Given the description of an element on the screen output the (x, y) to click on. 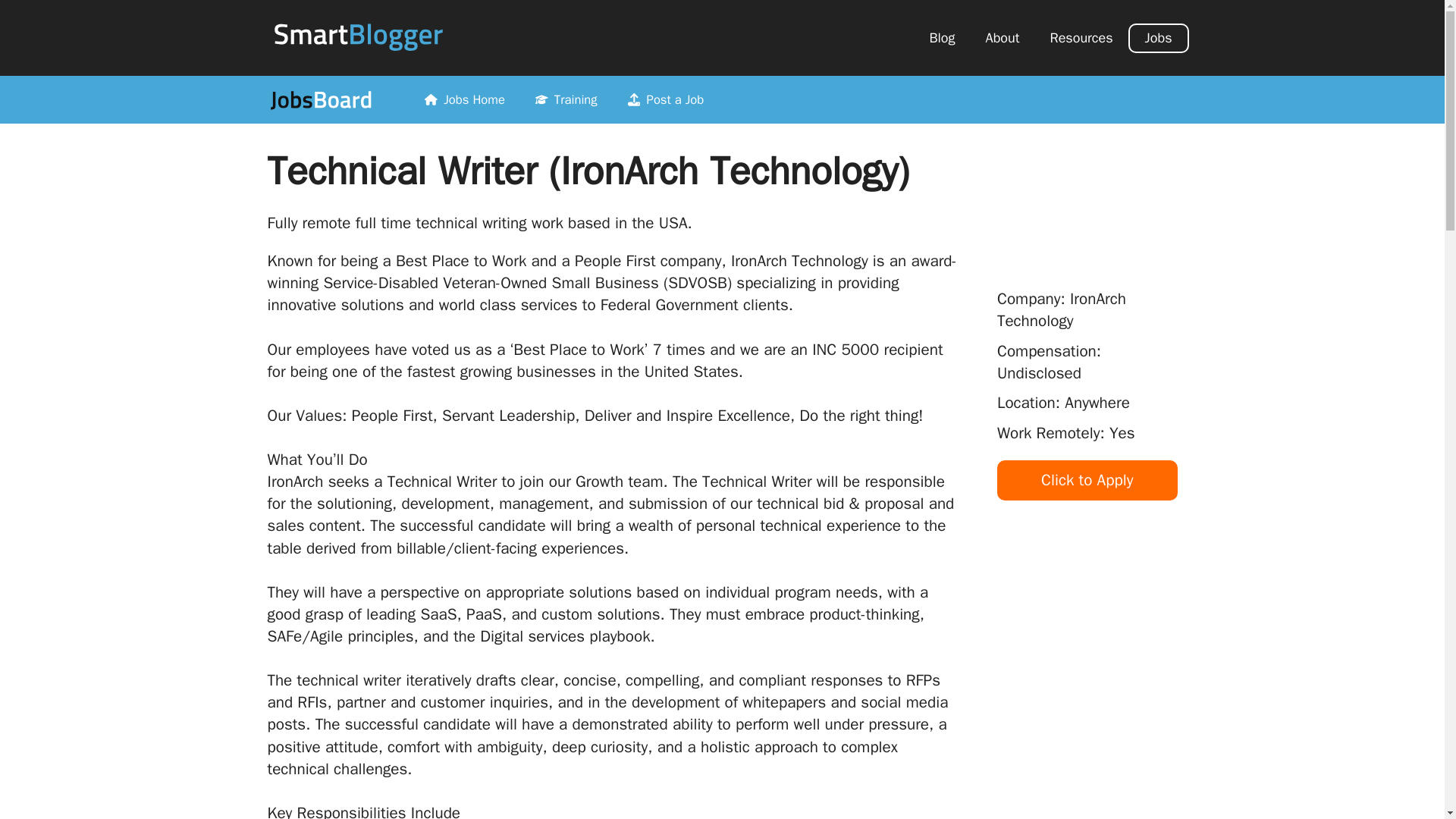
Training (565, 99)
Resources (1079, 37)
About (1003, 37)
Blog (941, 37)
Jobs (1158, 37)
Click to Apply (1087, 480)
Jobs Home (464, 99)
Post a Job (665, 99)
